Given the description of an element on the screen output the (x, y) to click on. 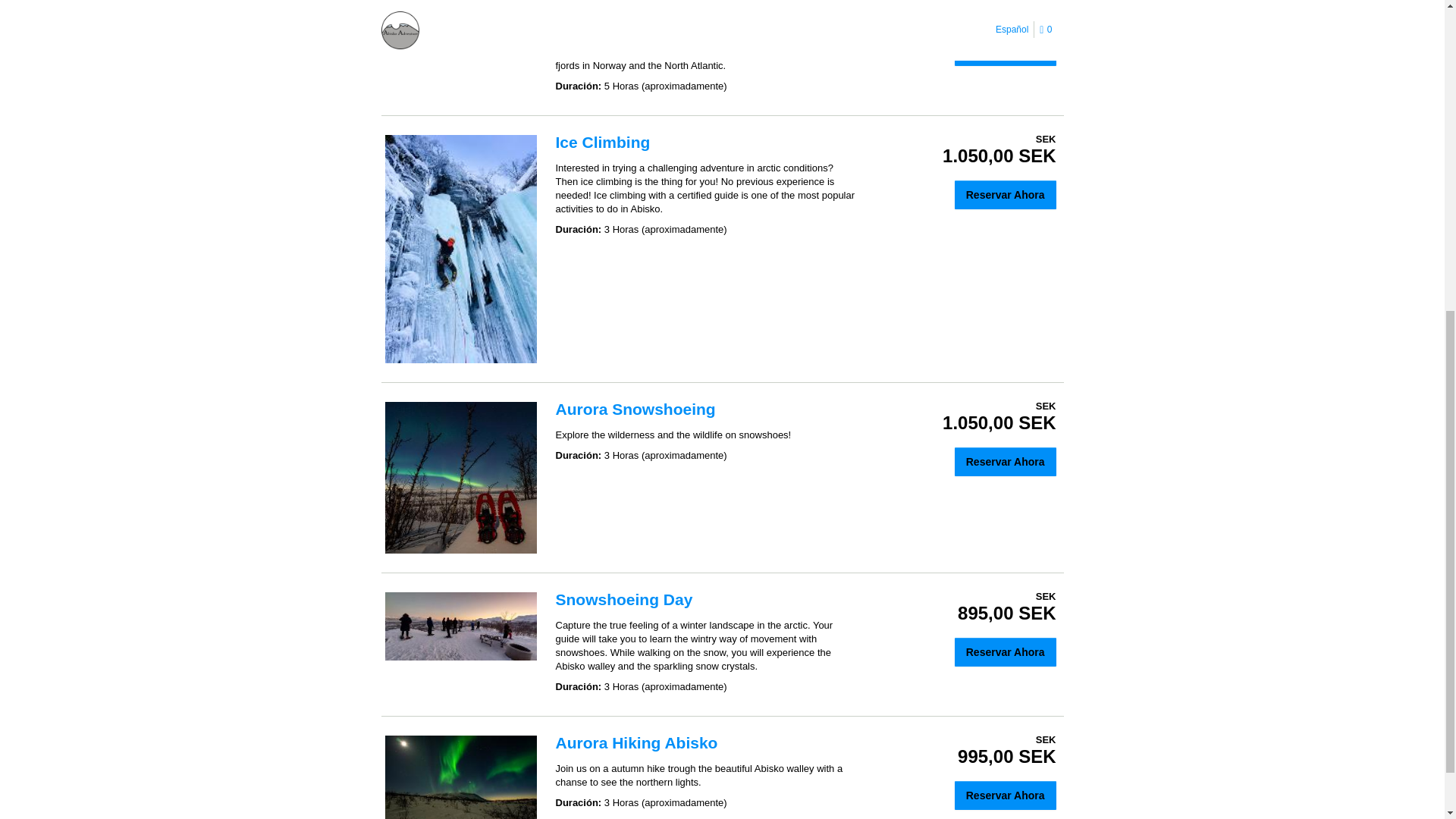
Reservar Ahora (1006, 194)
Panoramic tour in Norwegian Fjords (691, 3)
Reservar Ahora (1006, 51)
Aurora Snowshoeing (634, 408)
Reservar Ahora (1006, 461)
Ice Climbing (601, 141)
